Given the description of an element on the screen output the (x, y) to click on. 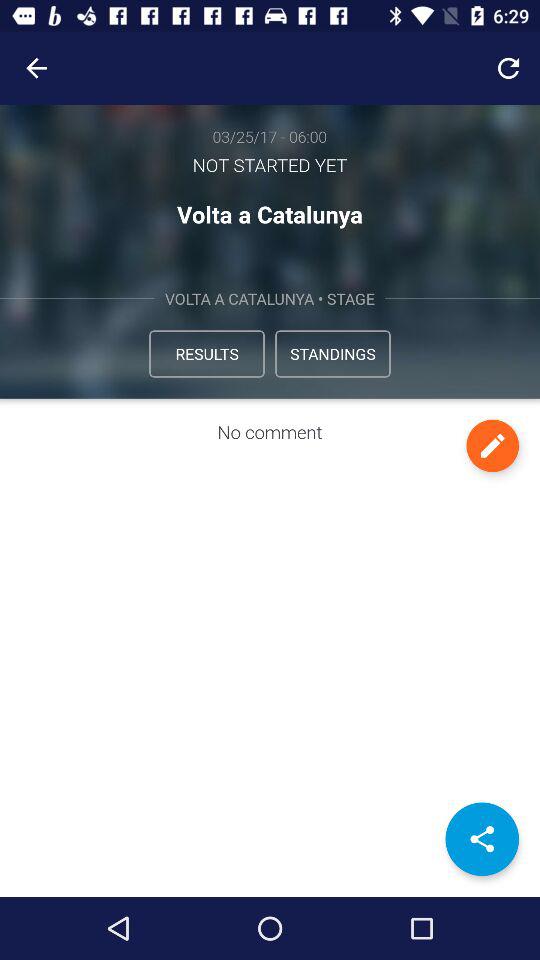
open the icon next to standings item (206, 353)
